Given the description of an element on the screen output the (x, y) to click on. 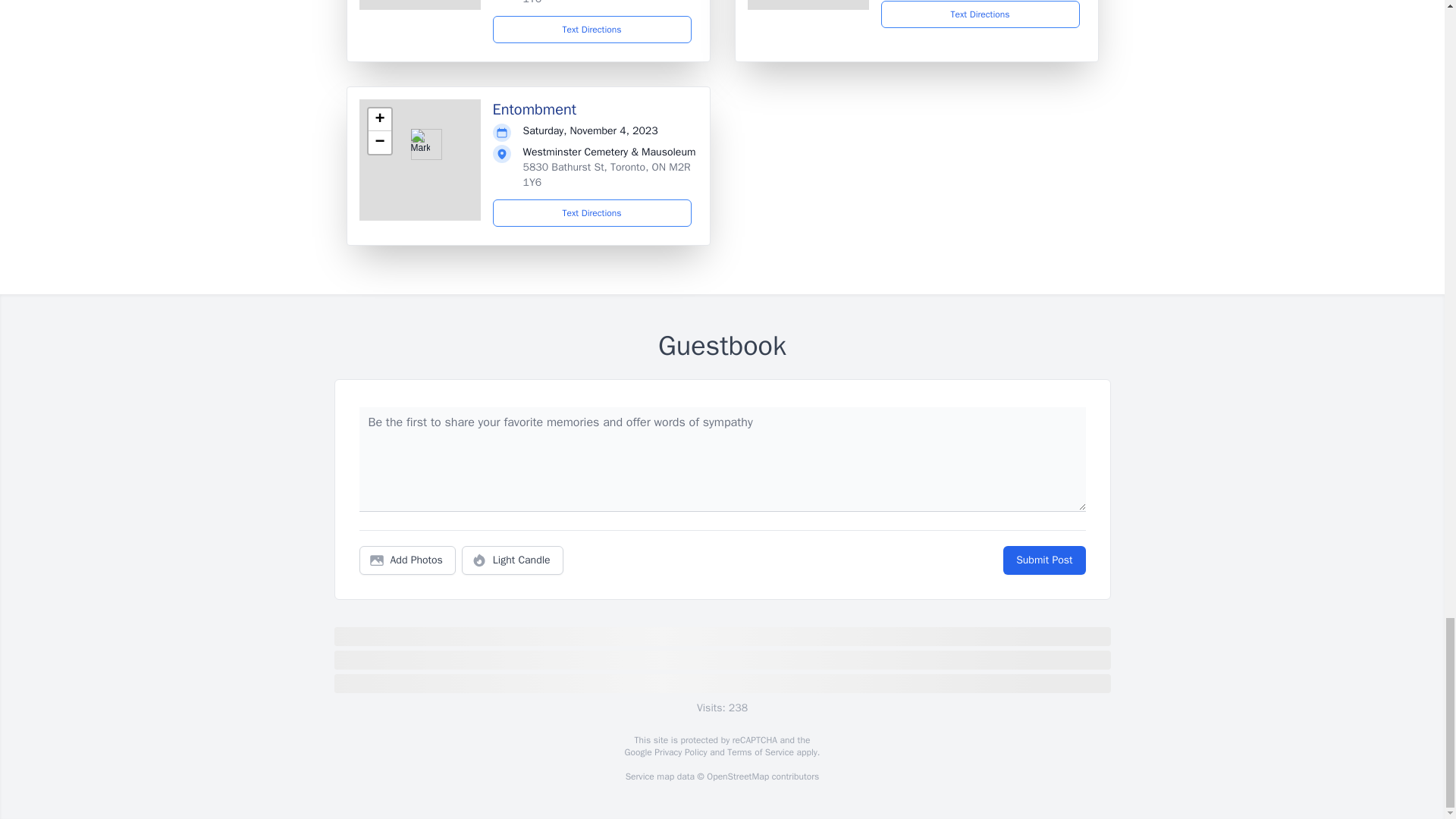
Zoom in (379, 119)
Zoom out (379, 142)
5826 Bathurst St, Toronto, ON M2R 1Y6 (606, 2)
Text Directions (592, 29)
